Given the description of an element on the screen output the (x, y) to click on. 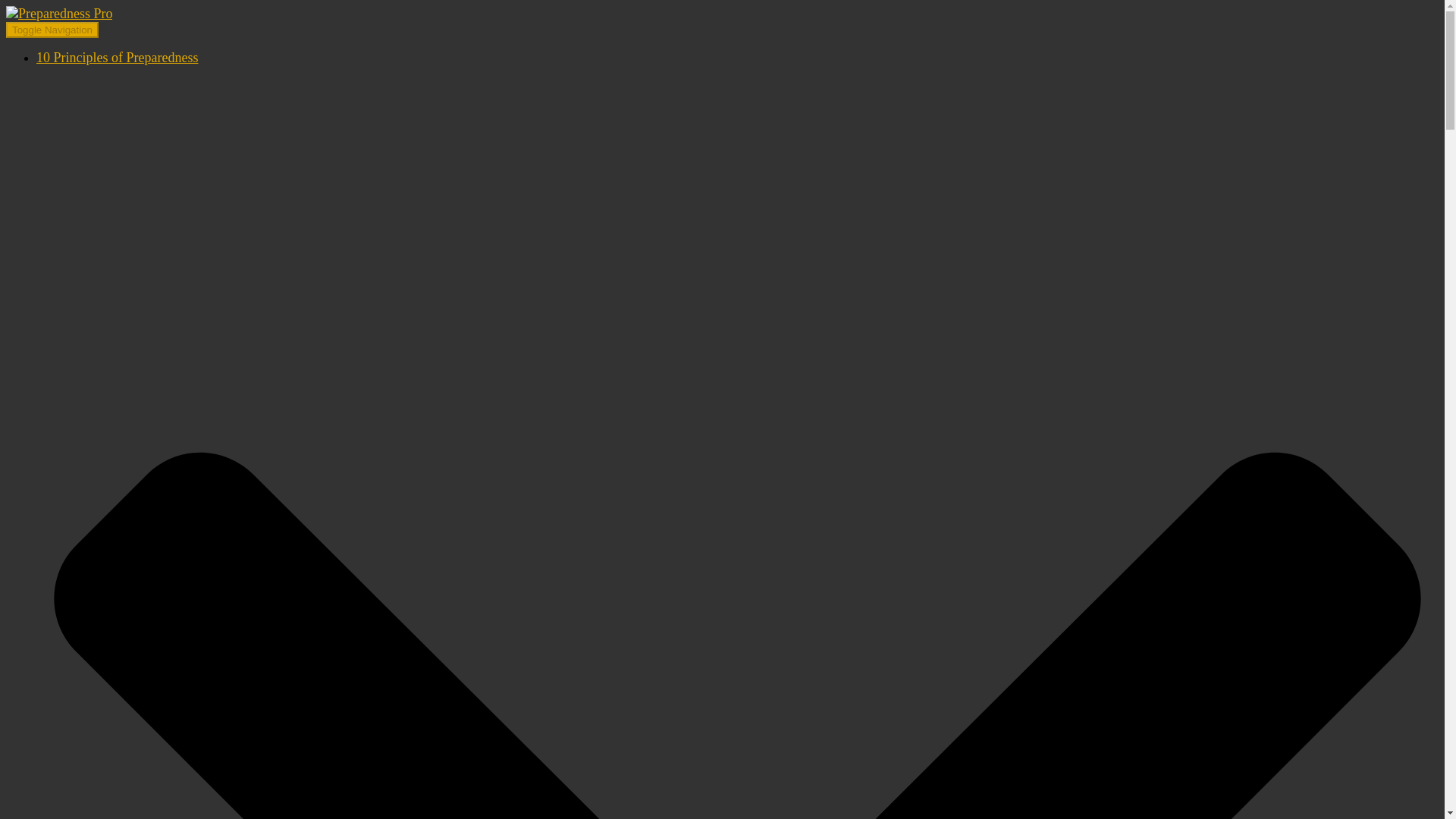
Preparedness Pro (58, 13)
Toggle Navigation (52, 29)
